Given the description of an element on the screen output the (x, y) to click on. 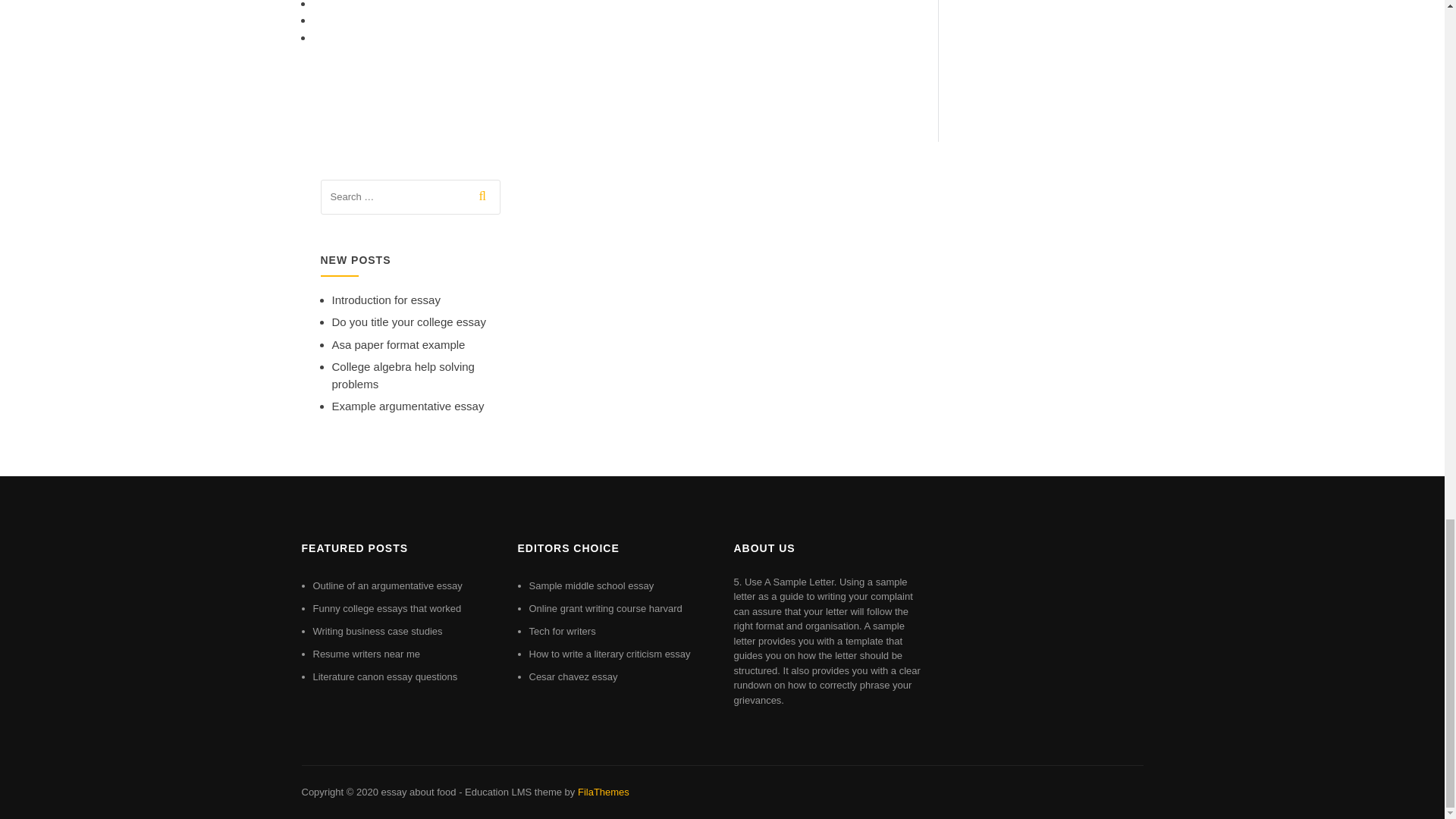
Outline of an argumentative essay (387, 585)
essay about food (417, 791)
Literature canon essay questions (385, 676)
College algebra help solving problems (402, 375)
Cesar chavez essay (573, 676)
Sample middle school essay (591, 585)
How to write a literary criticism essay (609, 654)
Online grant writing course harvard (605, 608)
Asa paper format example (398, 344)
Funny college essays that worked (387, 608)
Tech for writers (562, 631)
Example argumentative essay (407, 405)
Do you title your college essay (408, 321)
Introduction for essay (386, 299)
Writing business case studies (377, 631)
